Given the description of an element on the screen output the (x, y) to click on. 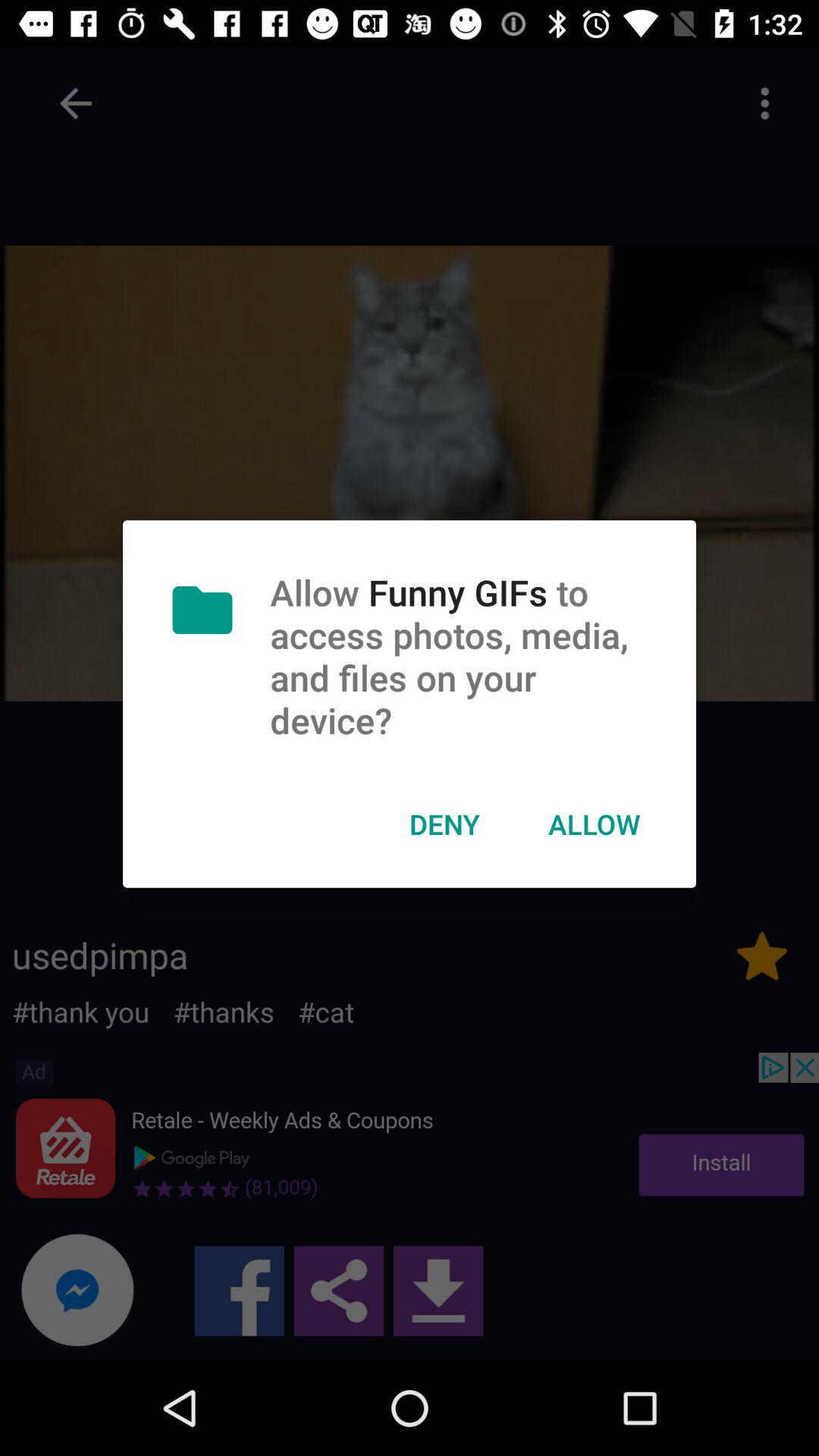
click on the three dots (764, 103)
